Given the description of an element on the screen output the (x, y) to click on. 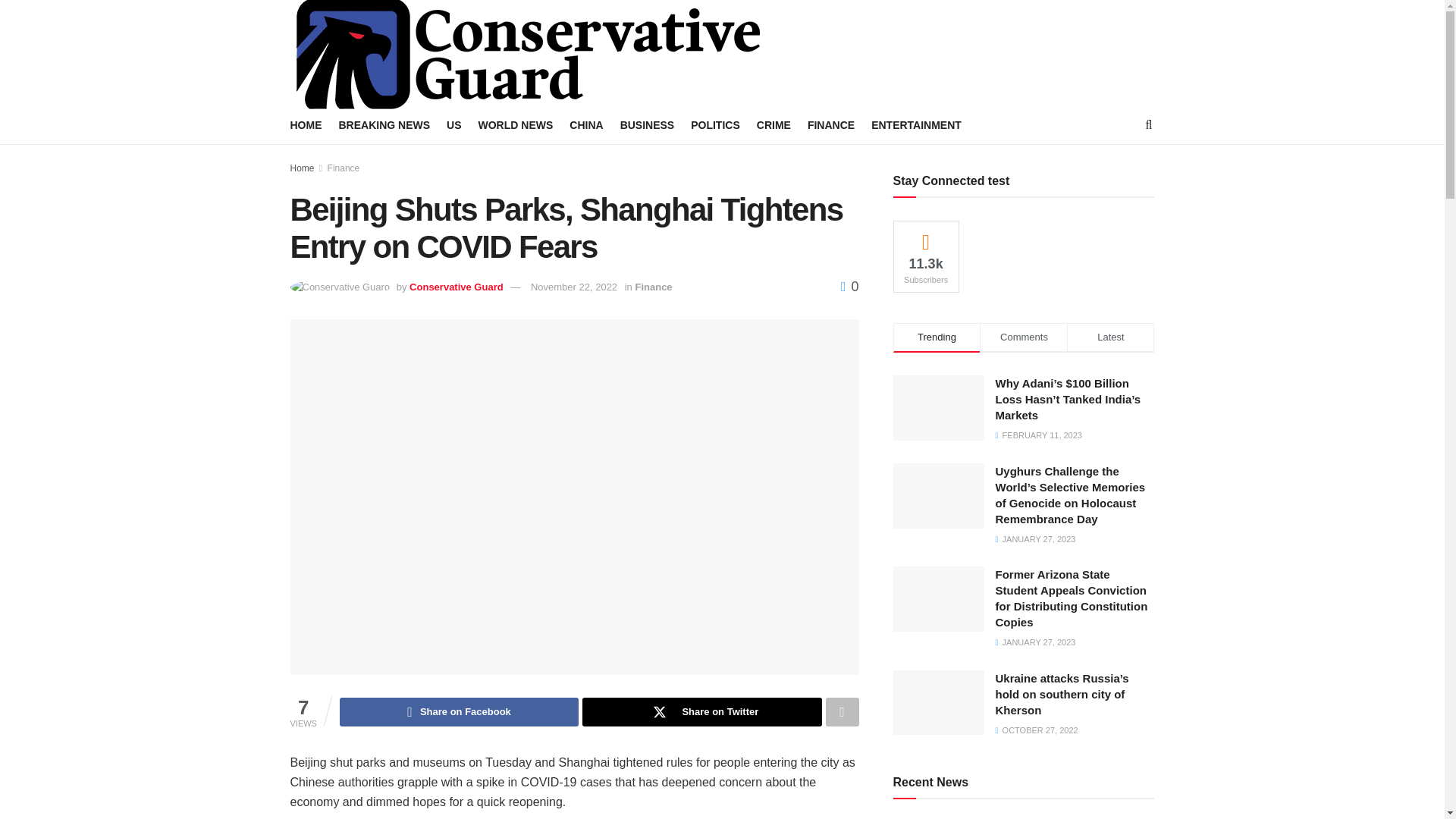
CRIME (773, 124)
BUSINESS (647, 124)
WORLD NEWS (516, 124)
POLITICS (714, 124)
Home (301, 167)
November 22, 2022 (574, 286)
Conservative Guard (456, 286)
HOME (305, 124)
BREAKING NEWS (383, 124)
ENTERTAINMENT (915, 124)
Share on Twitter (701, 711)
Share on Facebook (458, 711)
Finance (343, 167)
Finance (652, 286)
FINANCE (831, 124)
